Given the description of an element on the screen output the (x, y) to click on. 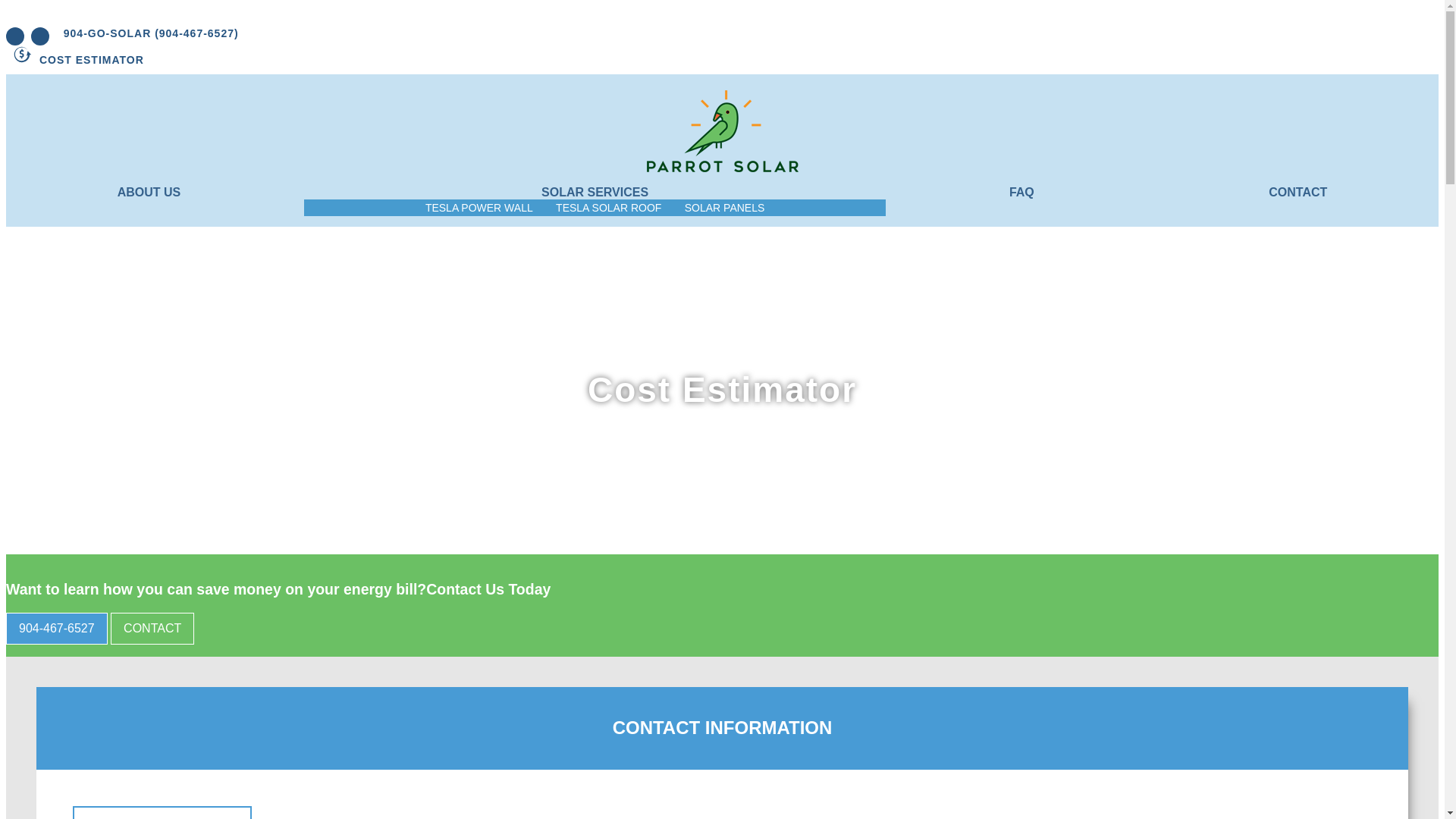
CONTACT (151, 628)
Contact Parrot Solar (151, 628)
SOLAR SERVICES (594, 192)
About Us (149, 192)
SOLAR PANELS (724, 208)
TESLA POWER WALL (478, 208)
FAQ (1021, 192)
Tesla Solar Roof (608, 208)
Parrot Solar LinkedIn (39, 36)
CONTACT (1296, 192)
